Given the description of an element on the screen output the (x, y) to click on. 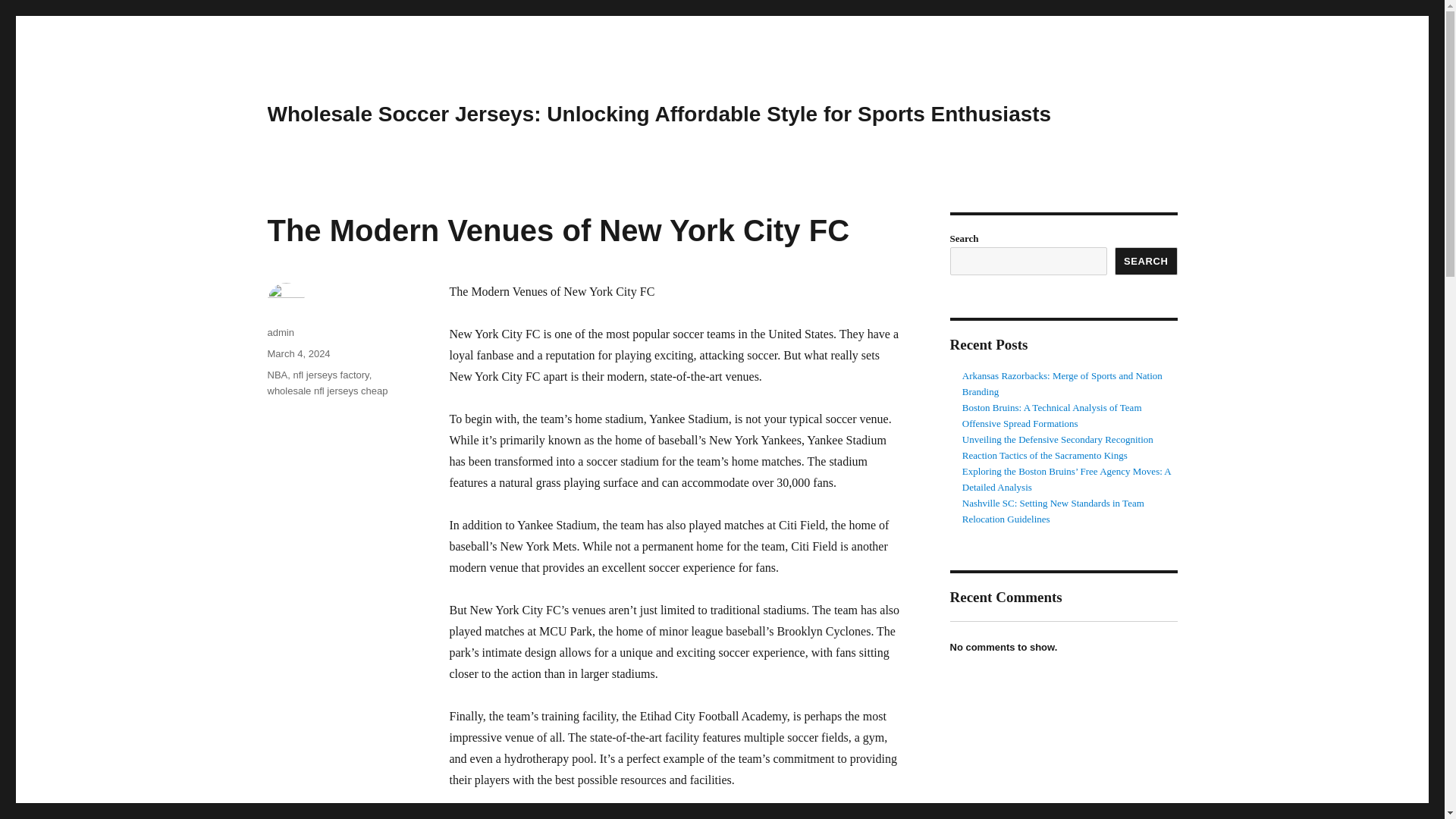
NBA (276, 374)
admin (280, 332)
Arkansas Razorbacks: Merge of Sports and Nation Branding (1061, 383)
SEARCH (1146, 261)
wholesale nfl jerseys cheap (326, 390)
nfl jerseys factory (330, 374)
March 4, 2024 (298, 353)
